Given the description of an element on the screen output the (x, y) to click on. 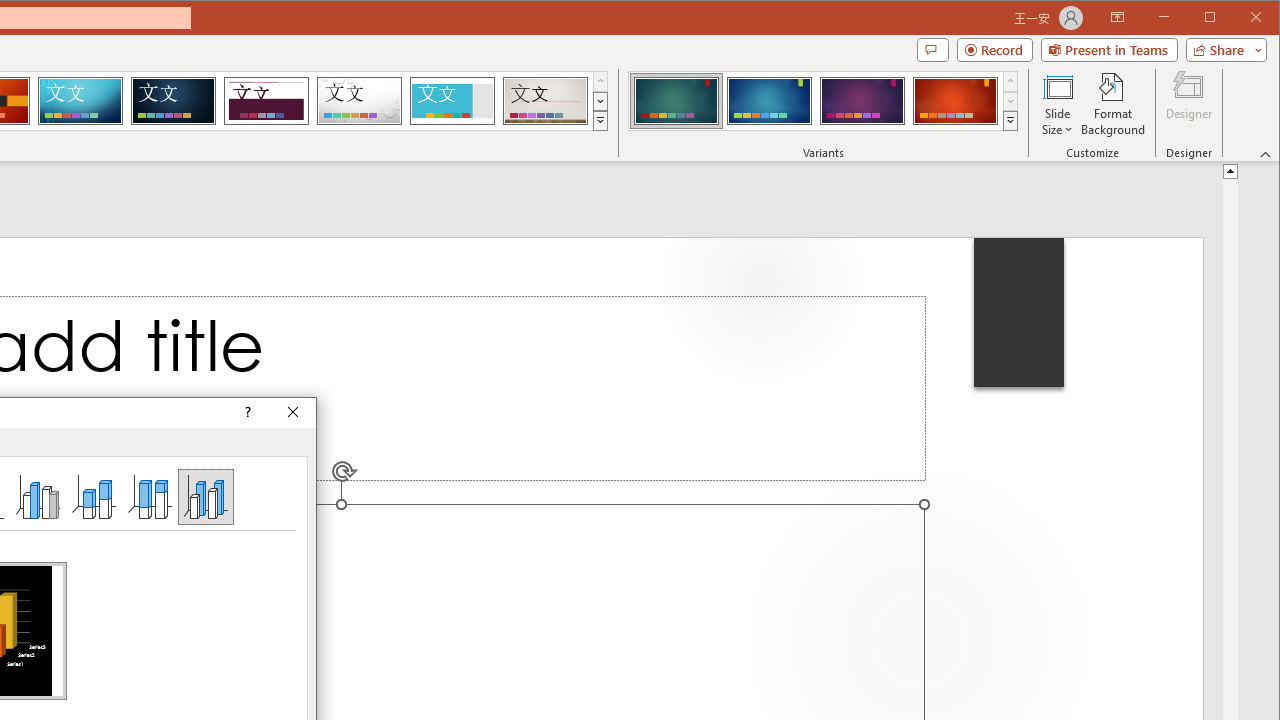
Ion Variant 1 (676, 100)
3-D Clustered Column (38, 496)
Variants (1010, 120)
Damask (173, 100)
Circuit (80, 100)
Ion Variant 4 (955, 100)
3-D 100% Stacked Column (149, 496)
3-D Stacked Column (93, 496)
Context help (246, 412)
